Given the description of an element on the screen output the (x, y) to click on. 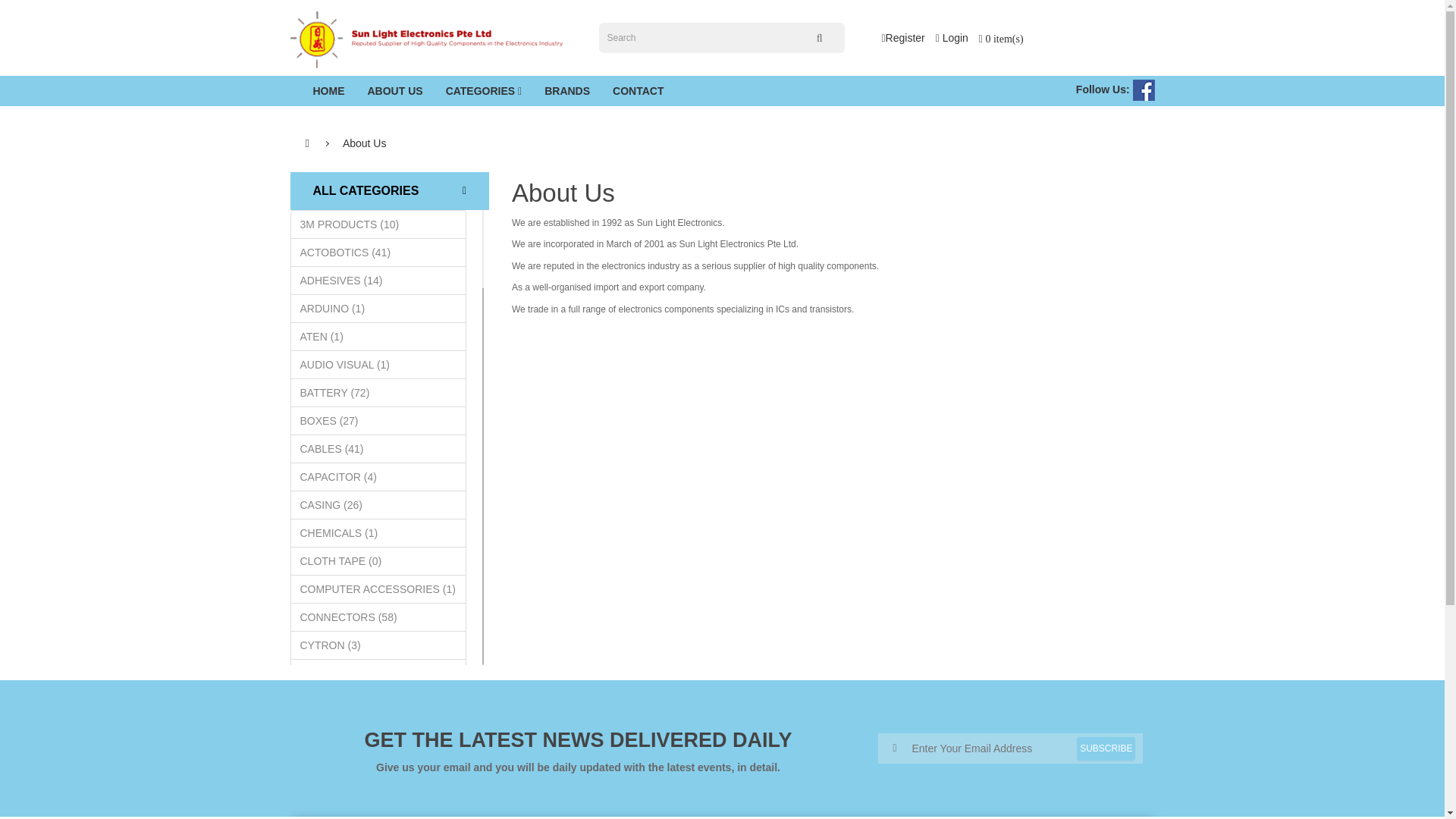
CATEGORIES (483, 91)
Sun Light Electronic Pte Ltd (425, 39)
HOME (328, 91)
Login (952, 37)
Register (902, 37)
ABOUT US (394, 91)
